Given the description of an element on the screen output the (x, y) to click on. 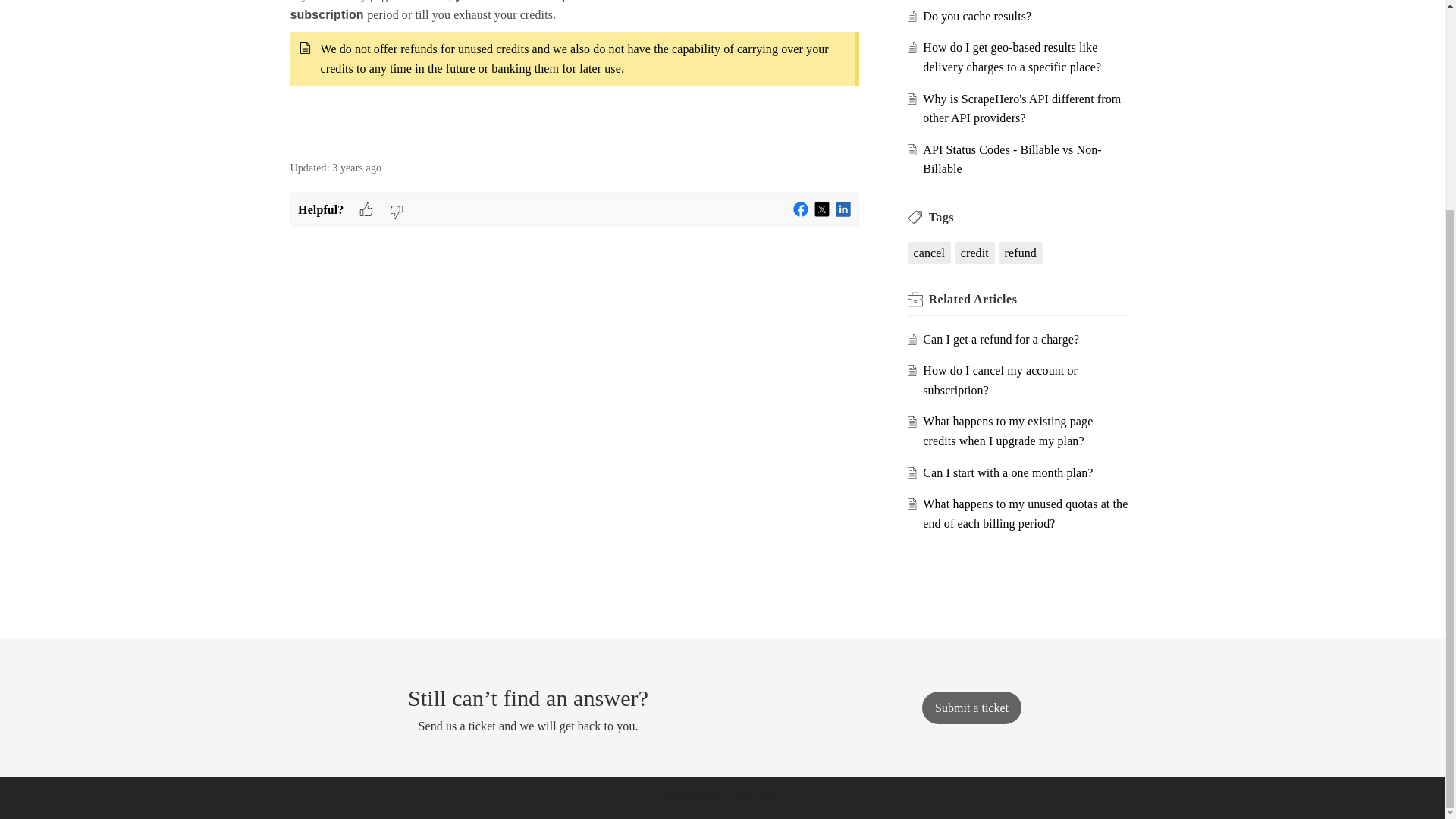
LinkedIn (842, 209)
Why is ScrapeHero's API different from other API providers? (1022, 108)
How do I cancel my account or subscription? (1000, 379)
cancel (927, 252)
Zoho Desk (752, 797)
Submit a ticket (971, 707)
Twitter (821, 209)
Submit a ticket (971, 707)
Do you cache results? (976, 15)
